Given the description of an element on the screen output the (x, y) to click on. 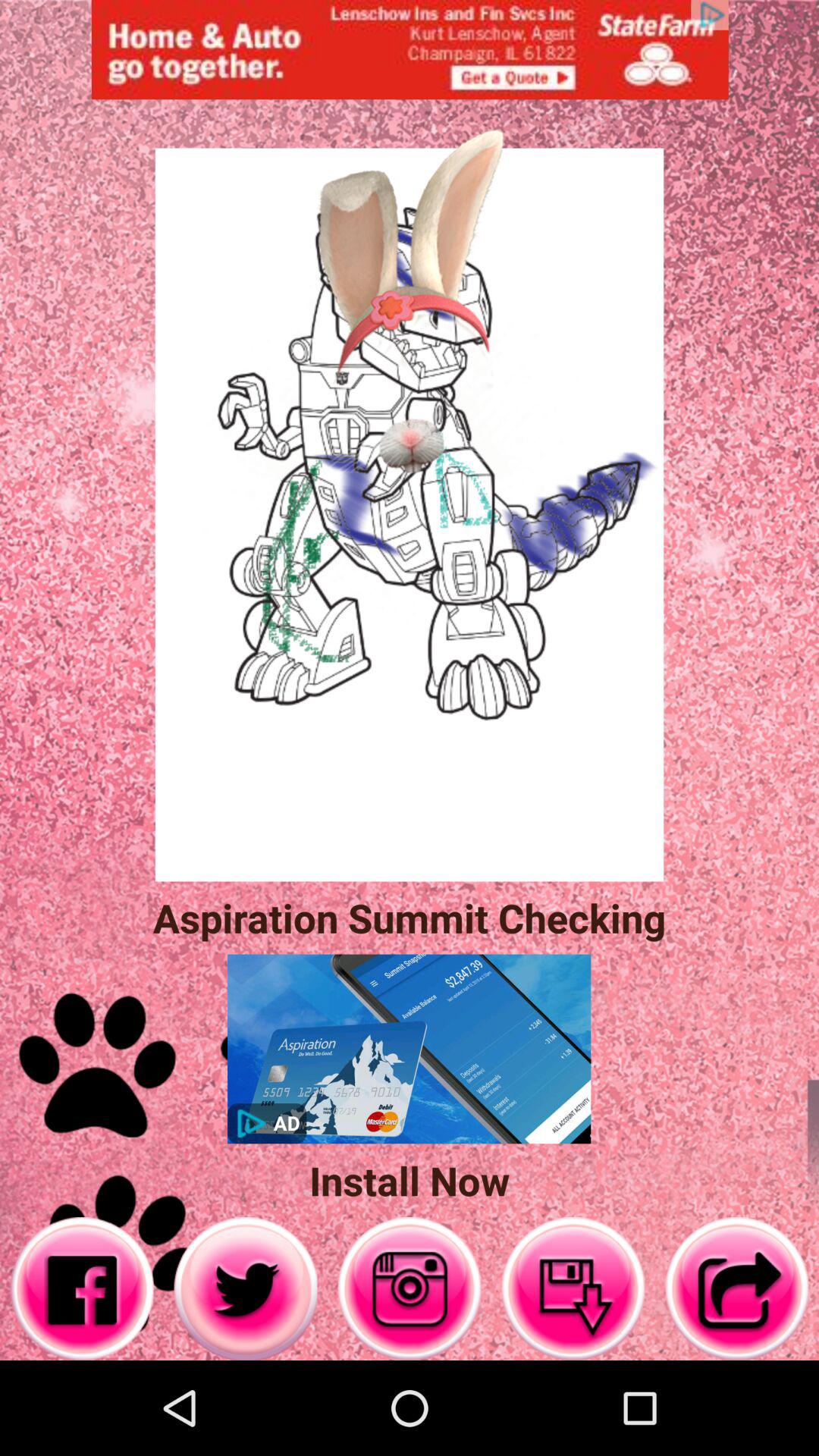
open facebook (81, 1288)
